Given the description of an element on the screen output the (x, y) to click on. 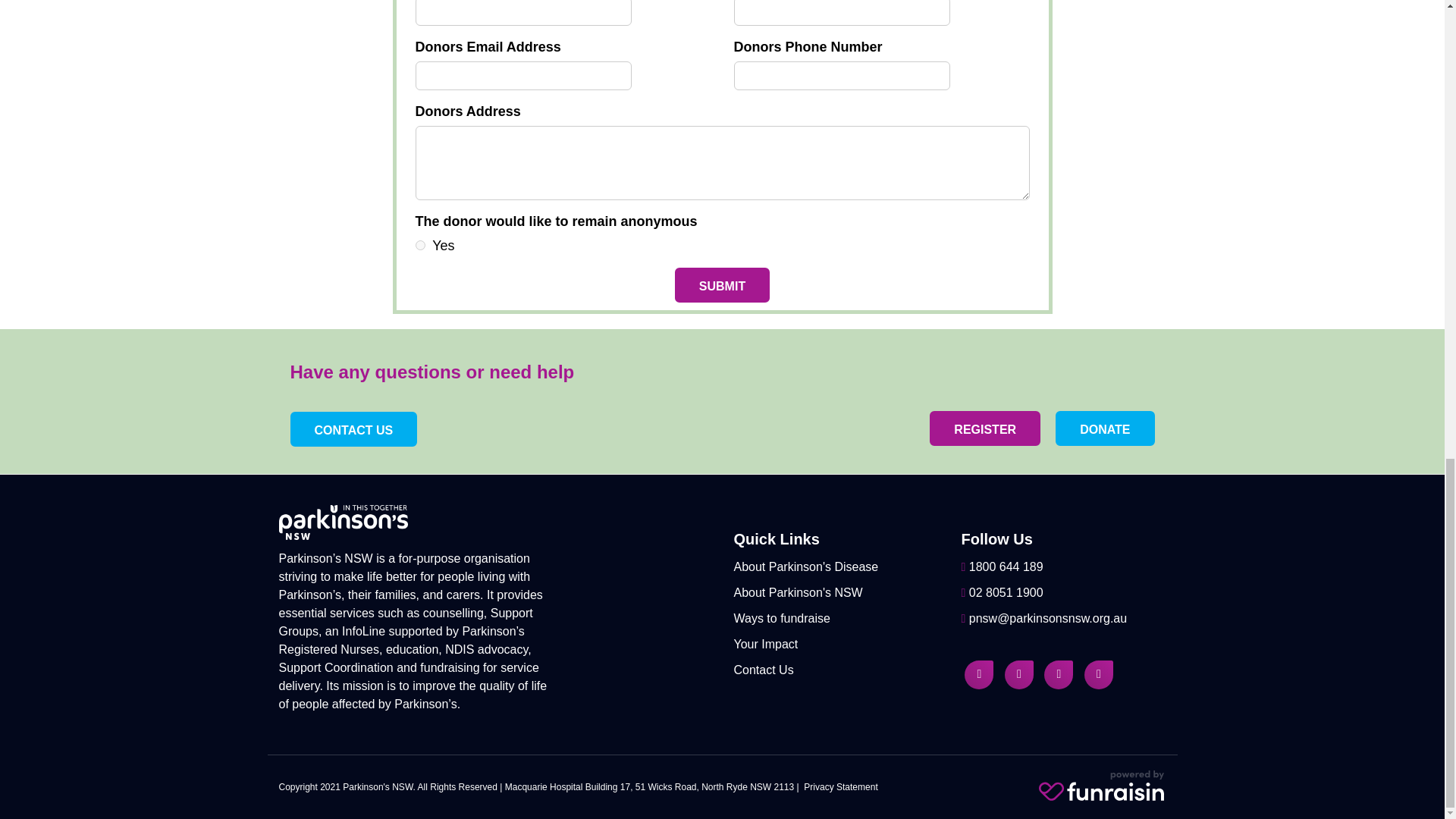
Contact Us (763, 669)
Your Impact (765, 644)
DONATE (1104, 428)
About Parkinson's Disease (805, 566)
Yes (419, 245)
About Parkinson's NSW (797, 592)
SUBMIT (722, 284)
REGISTER (985, 428)
CONTACT US (352, 428)
Ways to fundraise (781, 617)
